Given the description of an element on the screen output the (x, y) to click on. 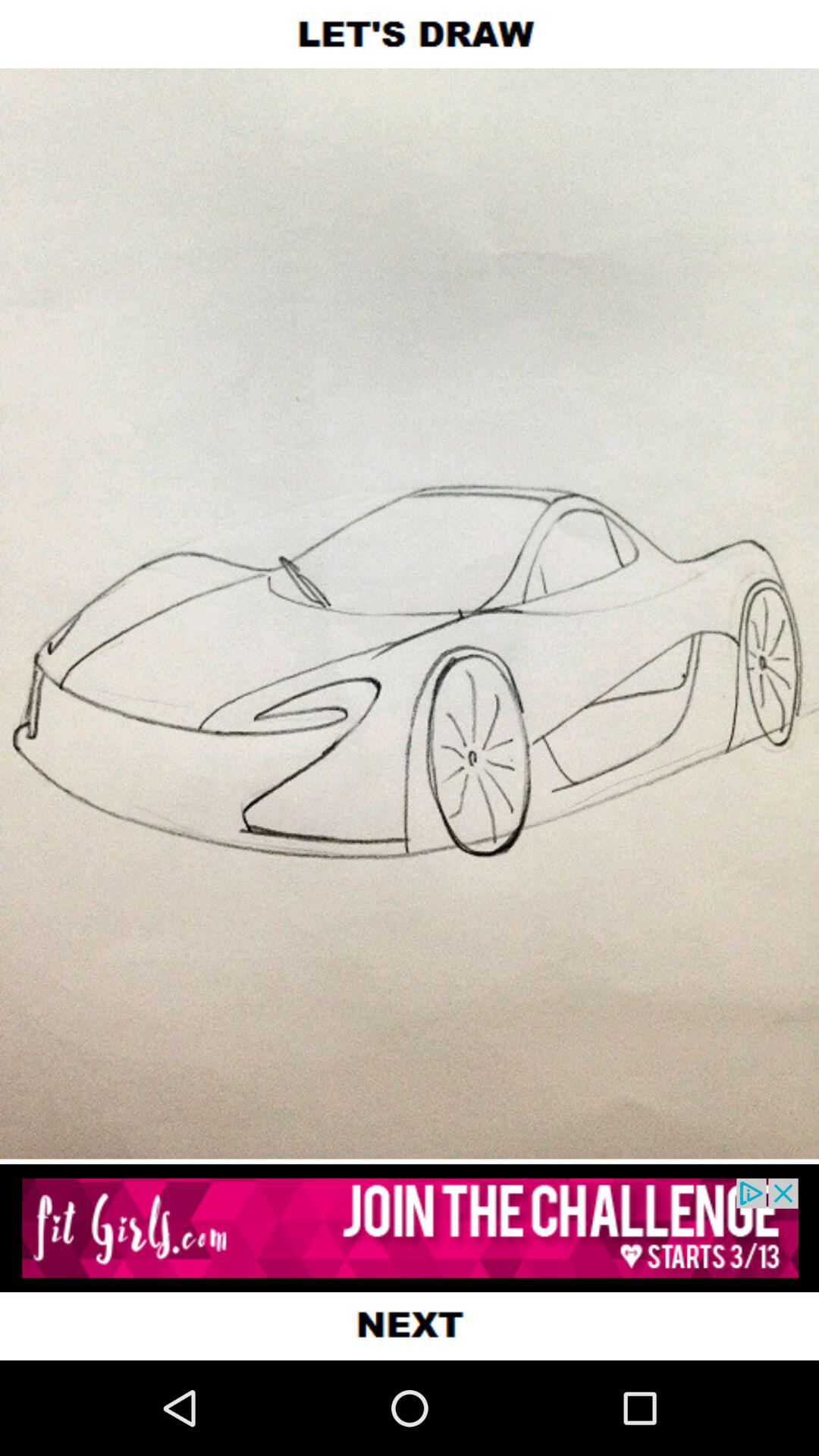
click discriiption (409, 1227)
